Given the description of an element on the screen output the (x, y) to click on. 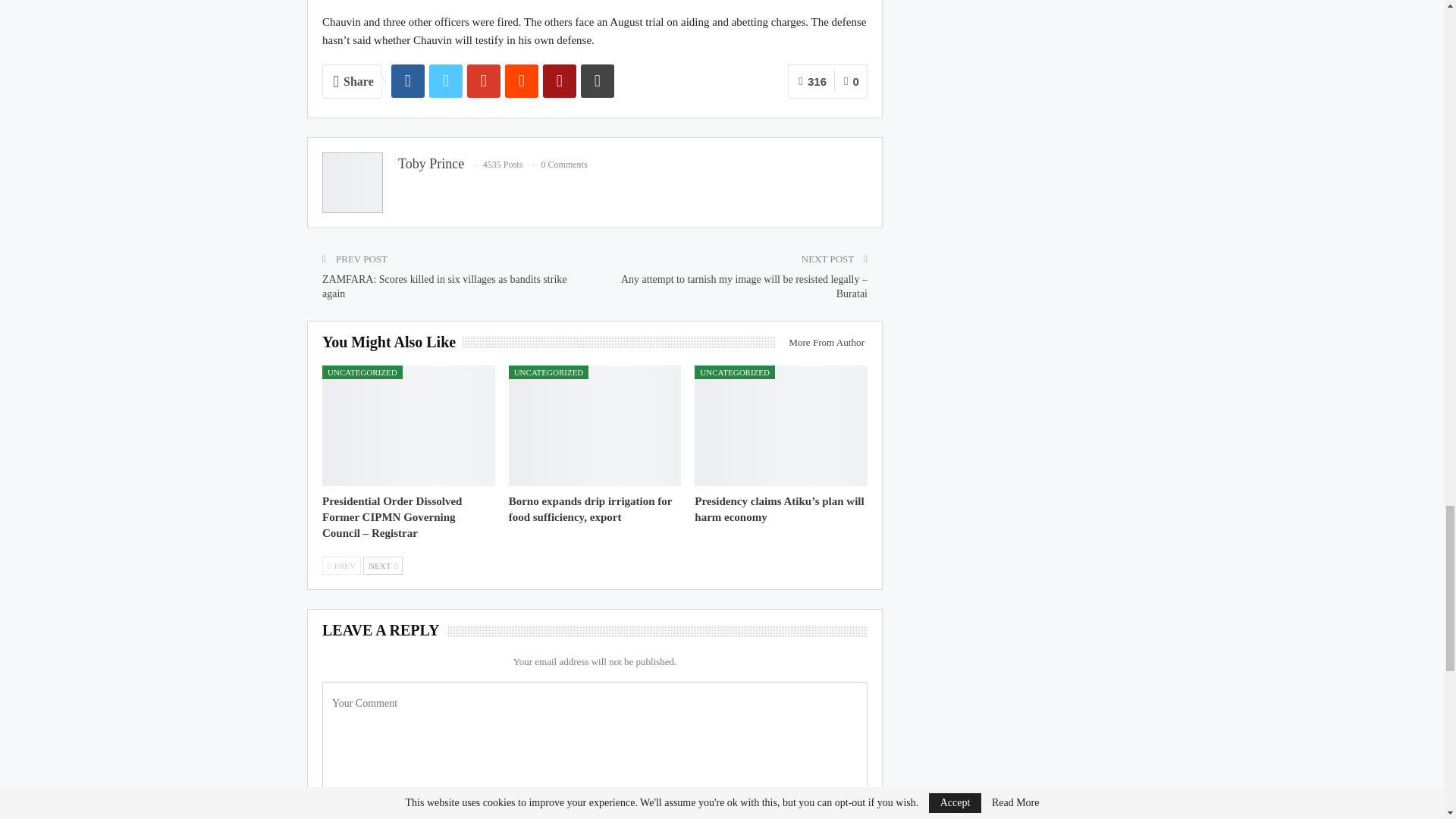
Borno expands drip irrigation for food sufficiency, export (594, 425)
0 (850, 81)
Borno expands drip irrigation for food sufficiency, export (590, 509)
